Given the description of an element on the screen output the (x, y) to click on. 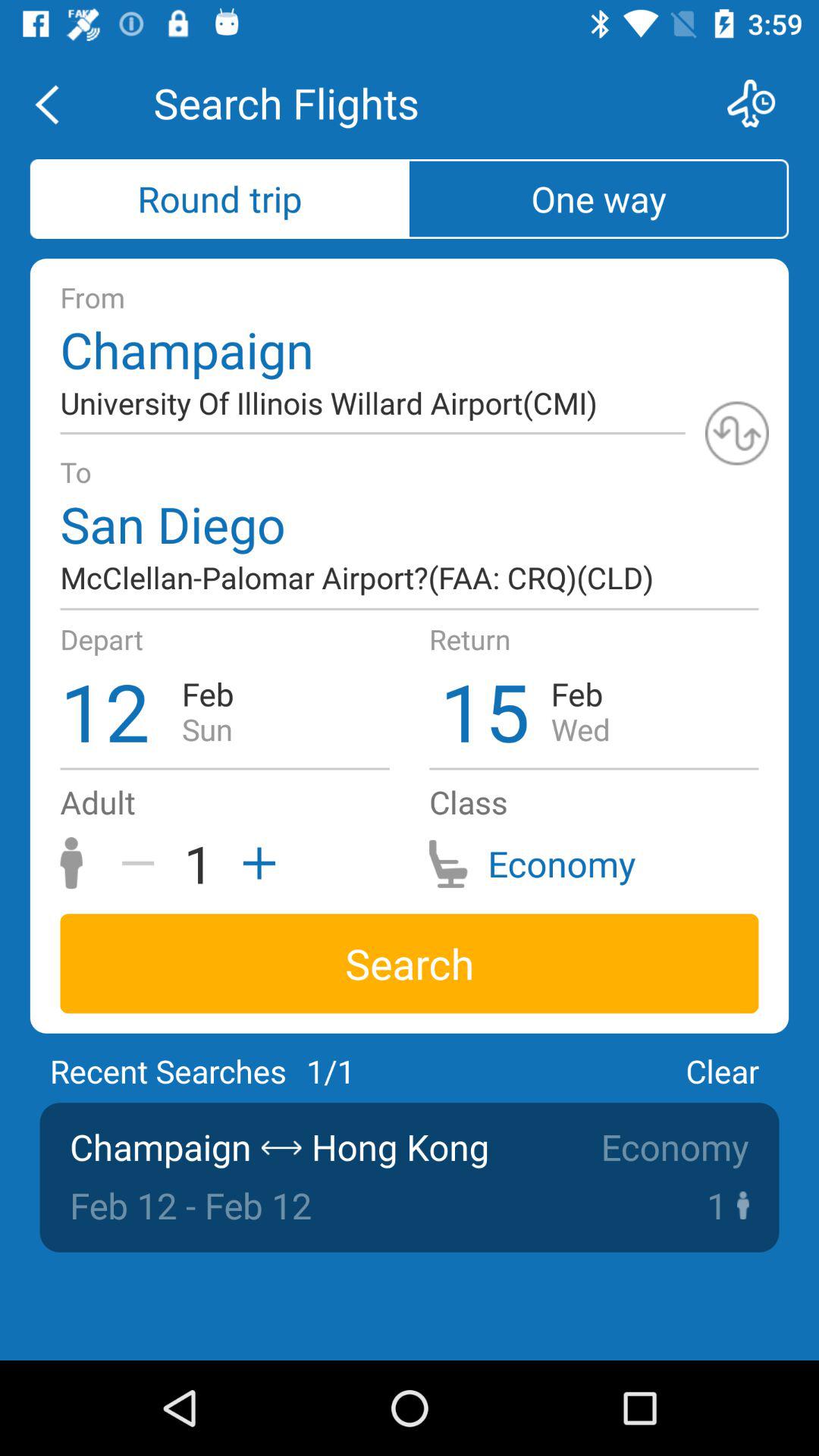
airplane timings (761, 102)
